Given the description of an element on the screen output the (x, y) to click on. 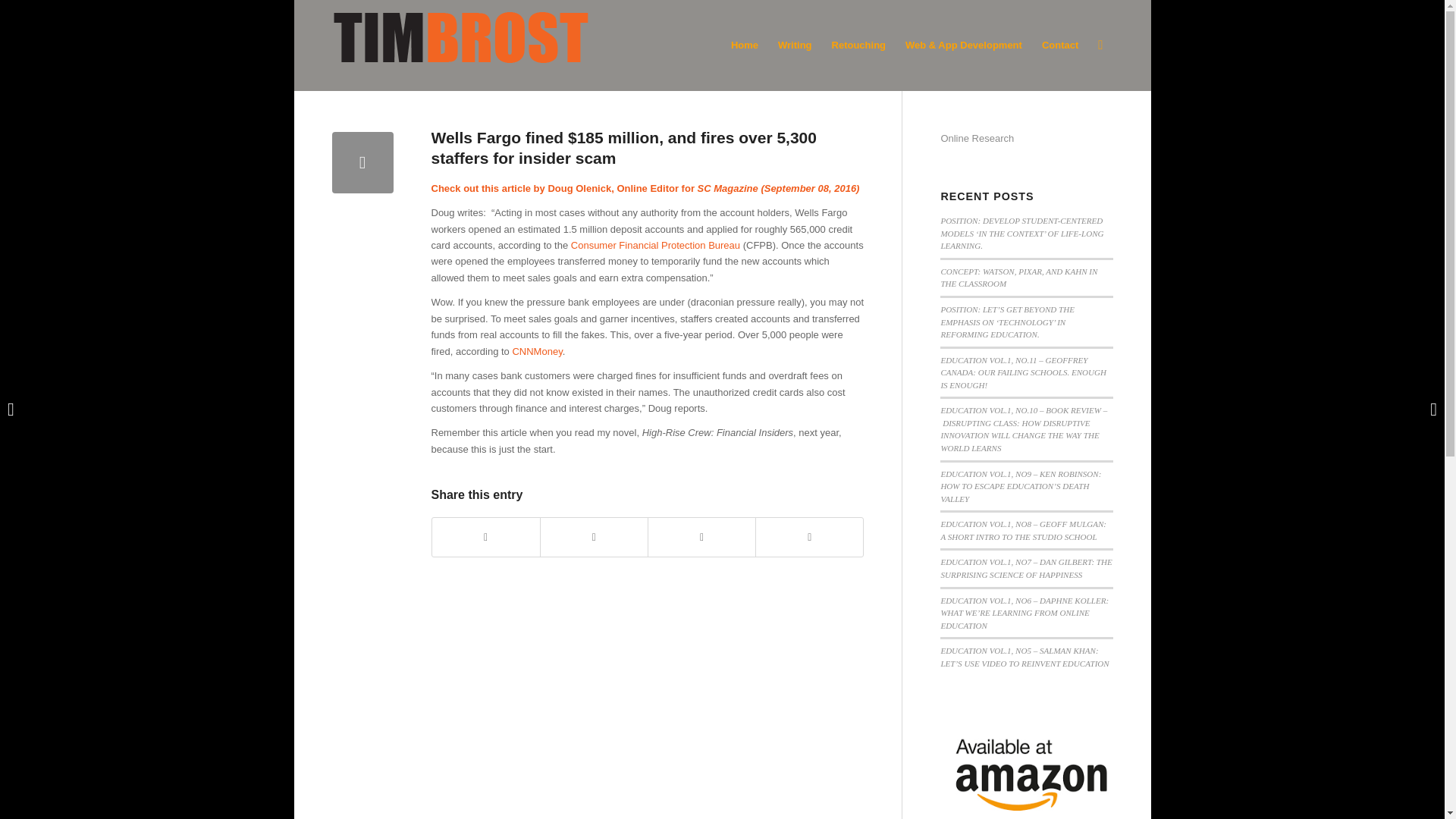
SC Magazine (727, 188)
Doug Olenick, Online Editor (612, 188)
Consumer Financial Protection Bureau (654, 244)
CNNMoney (537, 351)
